Given the description of an element on the screen output the (x, y) to click on. 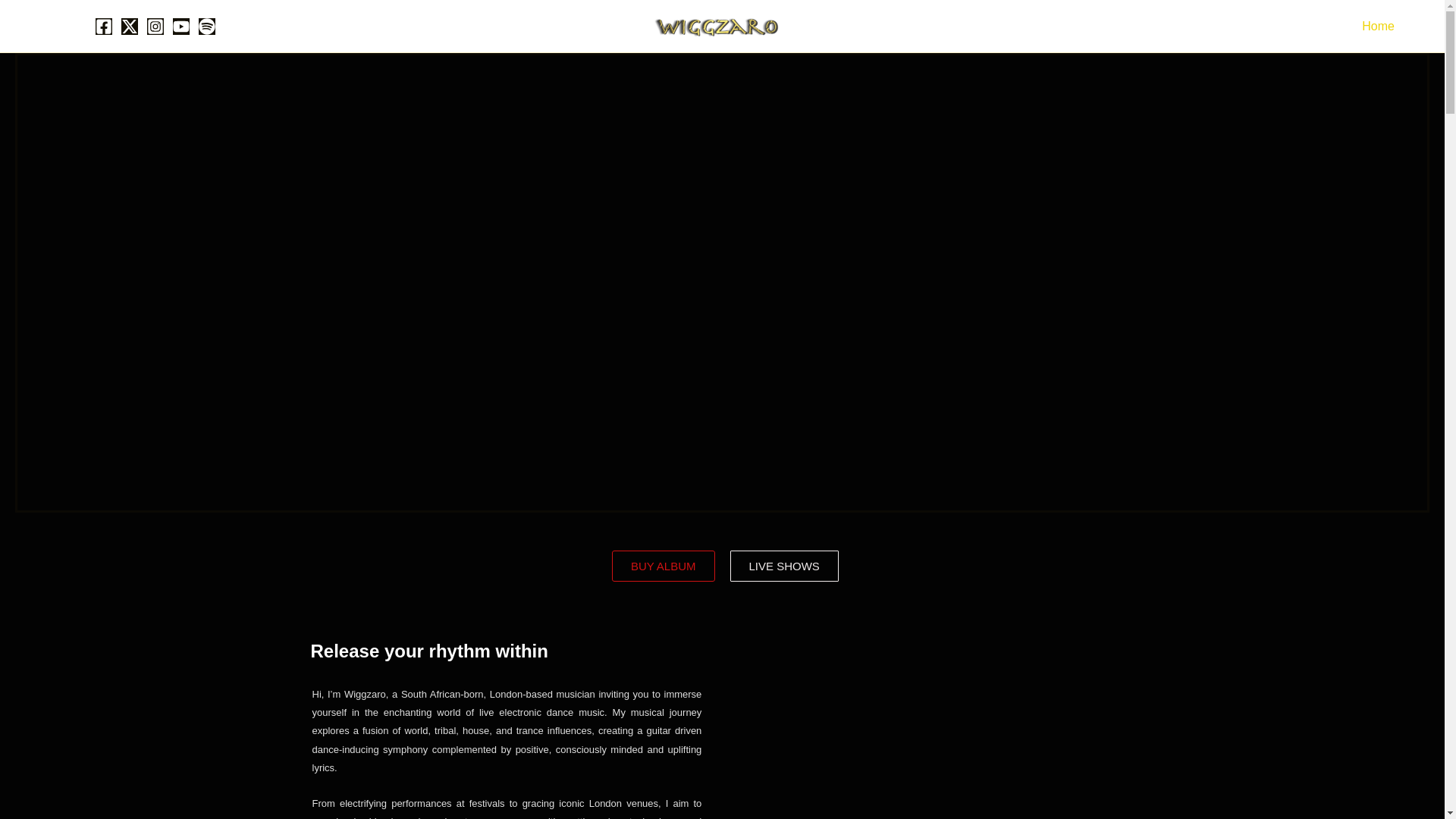
Home (1377, 25)
Button (47, 25)
LIVE SHOWS (783, 565)
BUY ALBUM (662, 565)
